Given the description of an element on the screen output the (x, y) to click on. 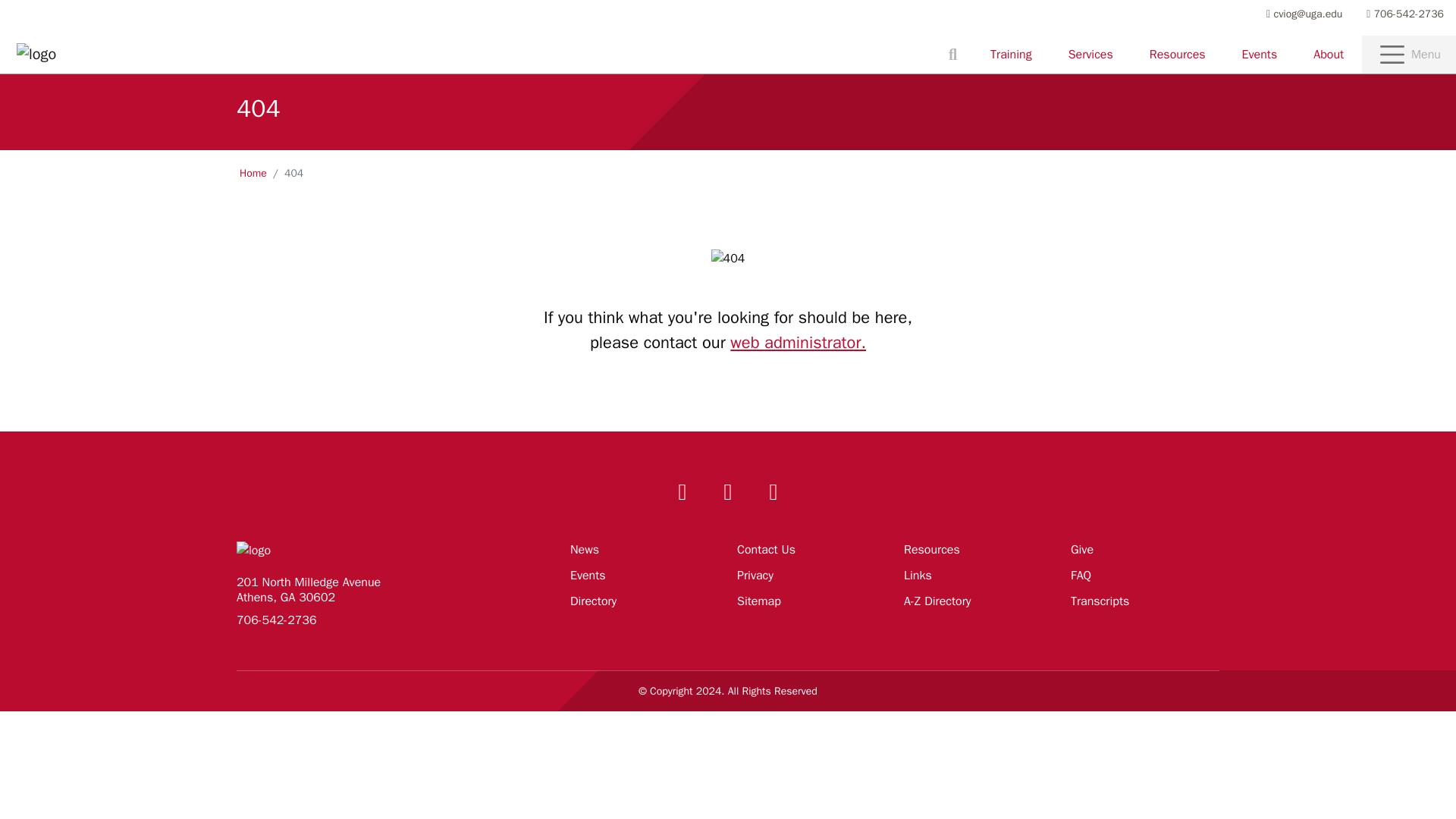
Toggle Search input (952, 54)
Events (1260, 54)
Services (1091, 54)
Training (1010, 54)
About (1328, 54)
Resources (1177, 54)
